Given the description of an element on the screen output the (x, y) to click on. 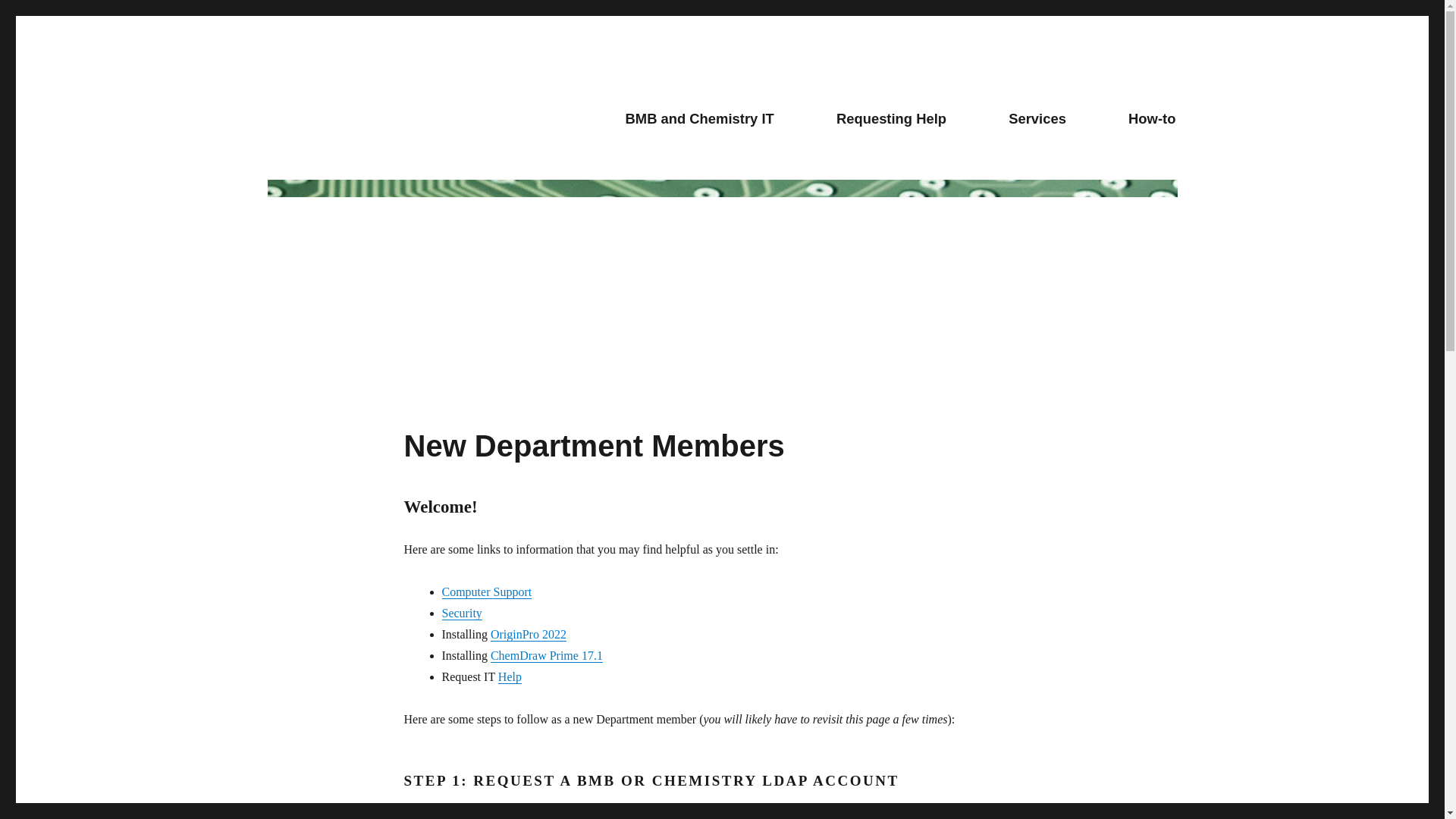
Security (461, 612)
Help (509, 676)
ChemDraw Prime 17.1 (546, 655)
Computer Support (486, 591)
Requesting Help (891, 118)
BMB and Chemistry IT (699, 118)
Google form (643, 816)
OriginPro 2022 (528, 634)
How-to (1152, 118)
Services (1036, 118)
